Given the description of an element on the screen output the (x, y) to click on. 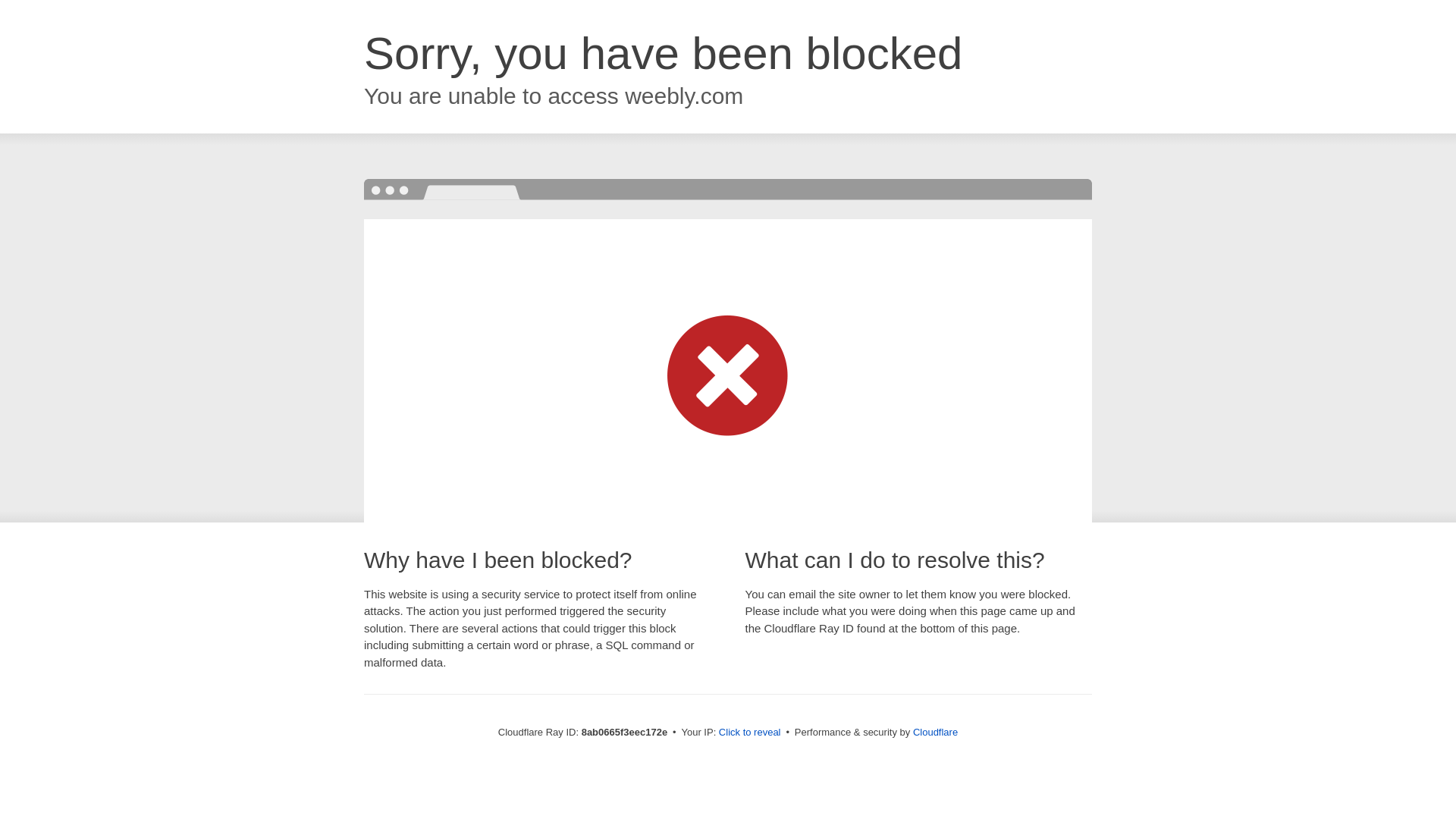
Cloudflare (935, 731)
Click to reveal (749, 732)
